Given the description of an element on the screen output the (x, y) to click on. 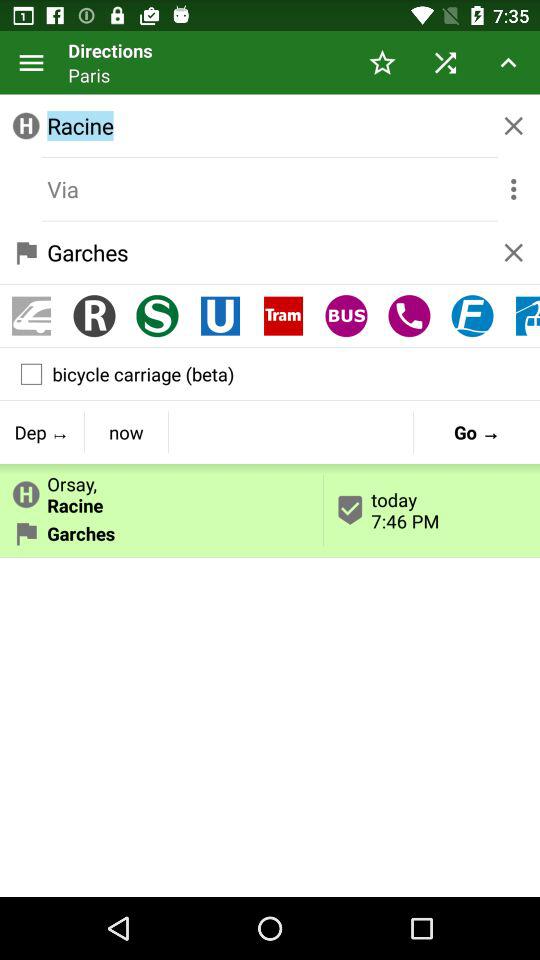
turn on the icon to the right of orsay,
racine icon (432, 510)
